Given the description of an element on the screen output the (x, y) to click on. 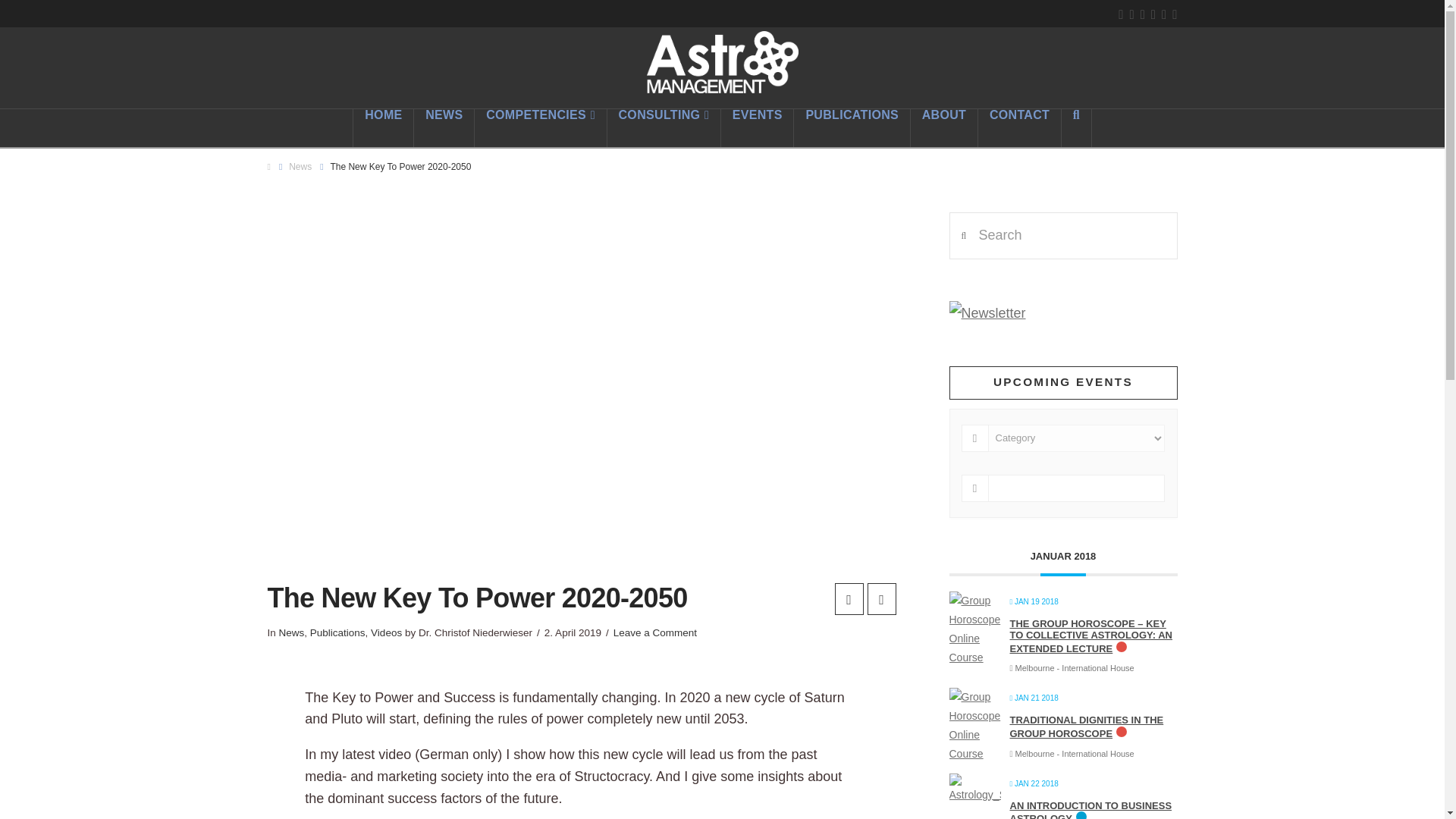
CONSULTING (663, 127)
NEWS (443, 127)
HOME (382, 127)
PUBLICATIONS (851, 127)
CONTACT (1019, 127)
You Are Here (400, 166)
ABOUT (944, 127)
EVENTS (757, 127)
Newsletter (987, 312)
COMPETENCIES (540, 127)
